Given the description of an element on the screen output the (x, y) to click on. 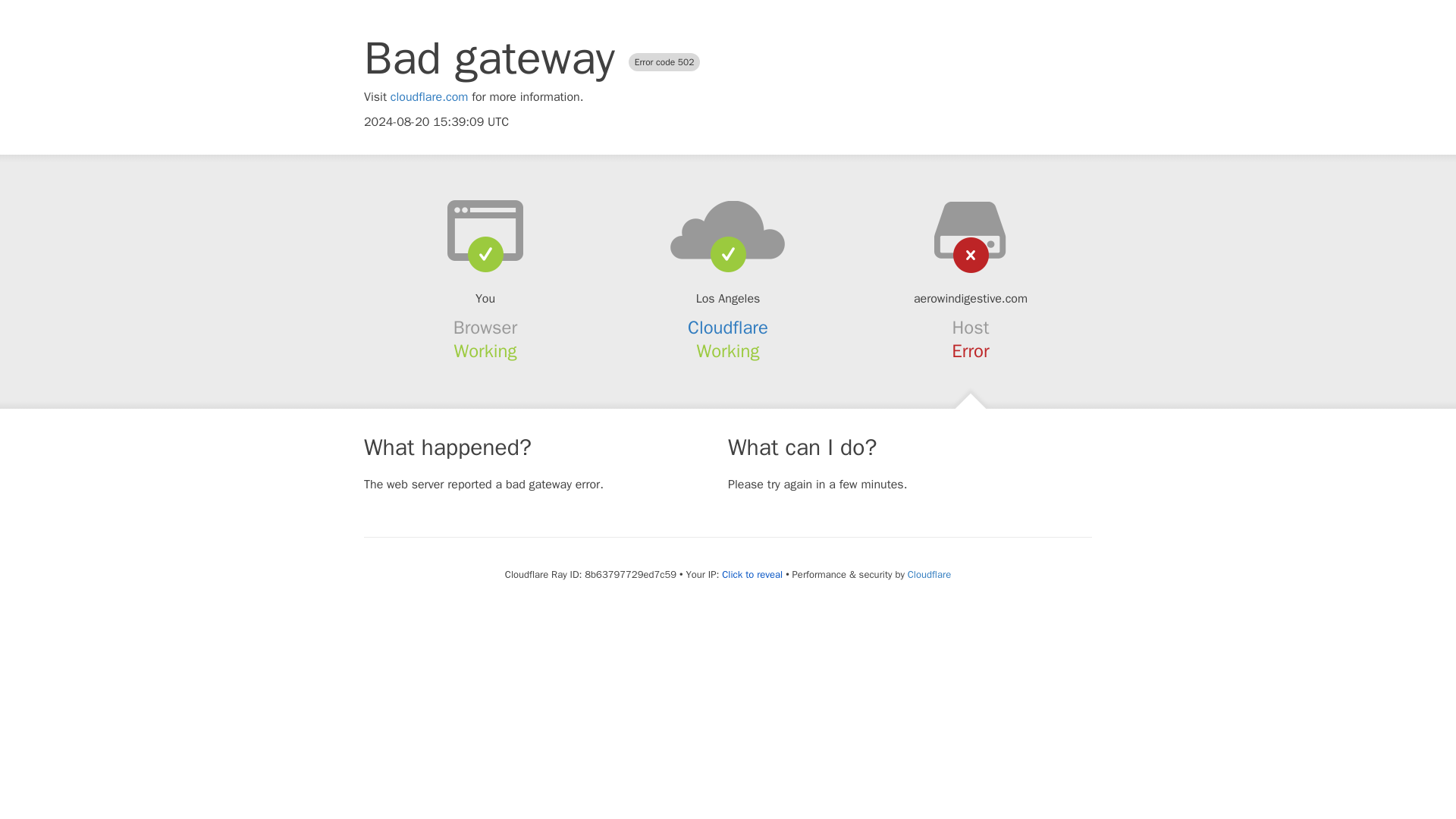
cloudflare.com (429, 96)
Click to reveal (752, 574)
Cloudflare (727, 327)
Cloudflare (928, 574)
